Given the description of an element on the screen output the (x, y) to click on. 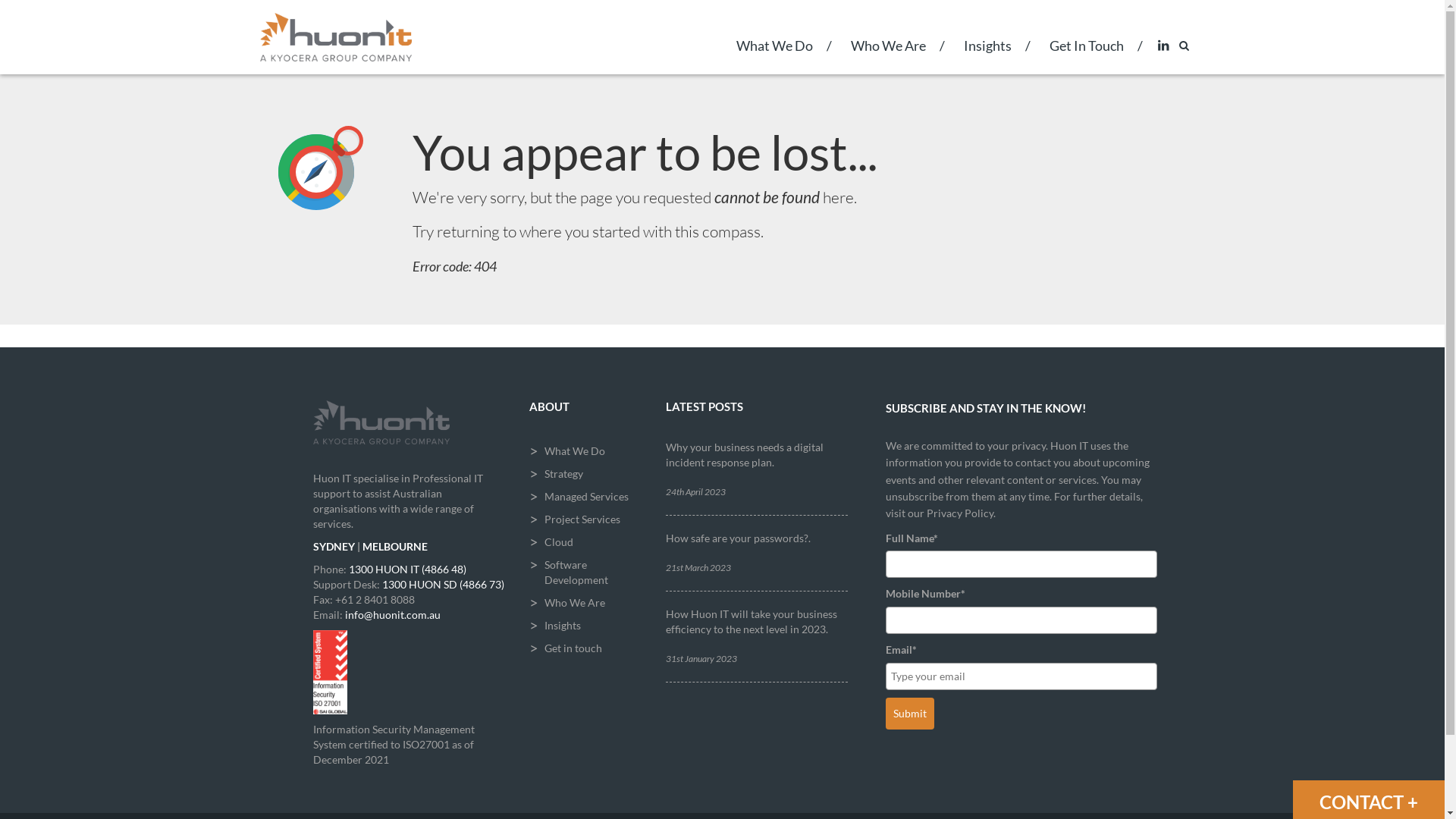
1300 HUON IT (4866 48) Element type: text (407, 568)
Who We Are Element type: text (887, 55)
Submit Element type: text (909, 713)
Managed Services Element type: text (586, 496)
info@huonit.com.au Element type: text (391, 614)
Get in touch Element type: text (586, 648)
Who We Are Element type: text (586, 602)
Cloud Element type: text (586, 541)
What We Do Element type: text (774, 55)
1300 HUON SD (4866 73) Element type: text (443, 583)
Strategy Element type: text (586, 473)
How safe are your passwords? Element type: text (736, 537)
MELBOURNE Element type: text (394, 545)
Insights Element type: text (987, 55)
Project Services Element type: text (586, 519)
SYDNEY Element type: text (333, 545)
Software Development Element type: text (586, 572)
What We Do Element type: text (586, 450)
Get In Touch Element type: text (1085, 55)
Insights Element type: text (586, 625)
Why your business needs a digital incident response plan Element type: text (744, 454)
